Given the description of an element on the screen output the (x, y) to click on. 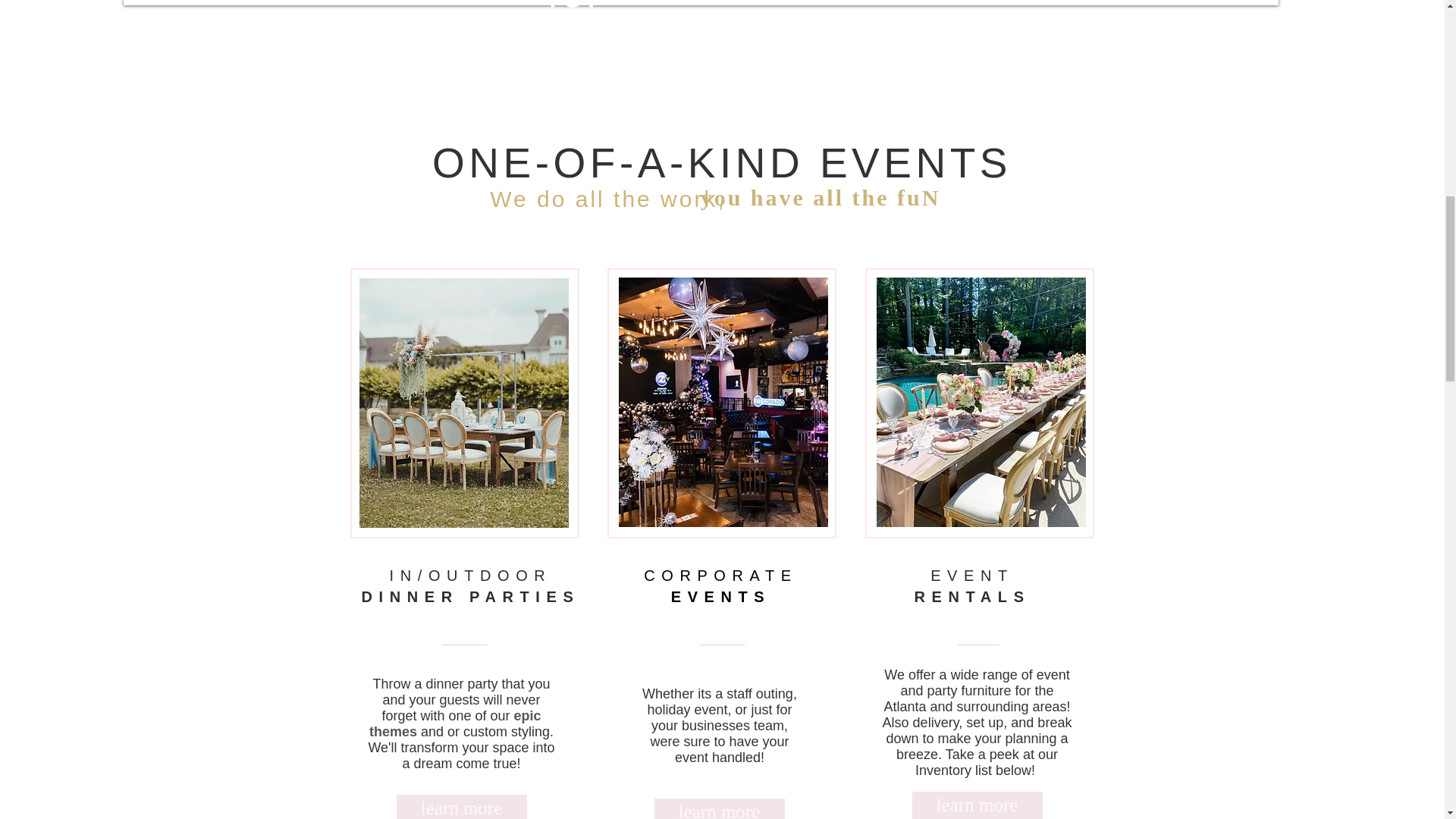
learn more (718, 808)
learn more (976, 805)
learn more (460, 806)
epic themes (455, 723)
